Given the description of an element on the screen output the (x, y) to click on. 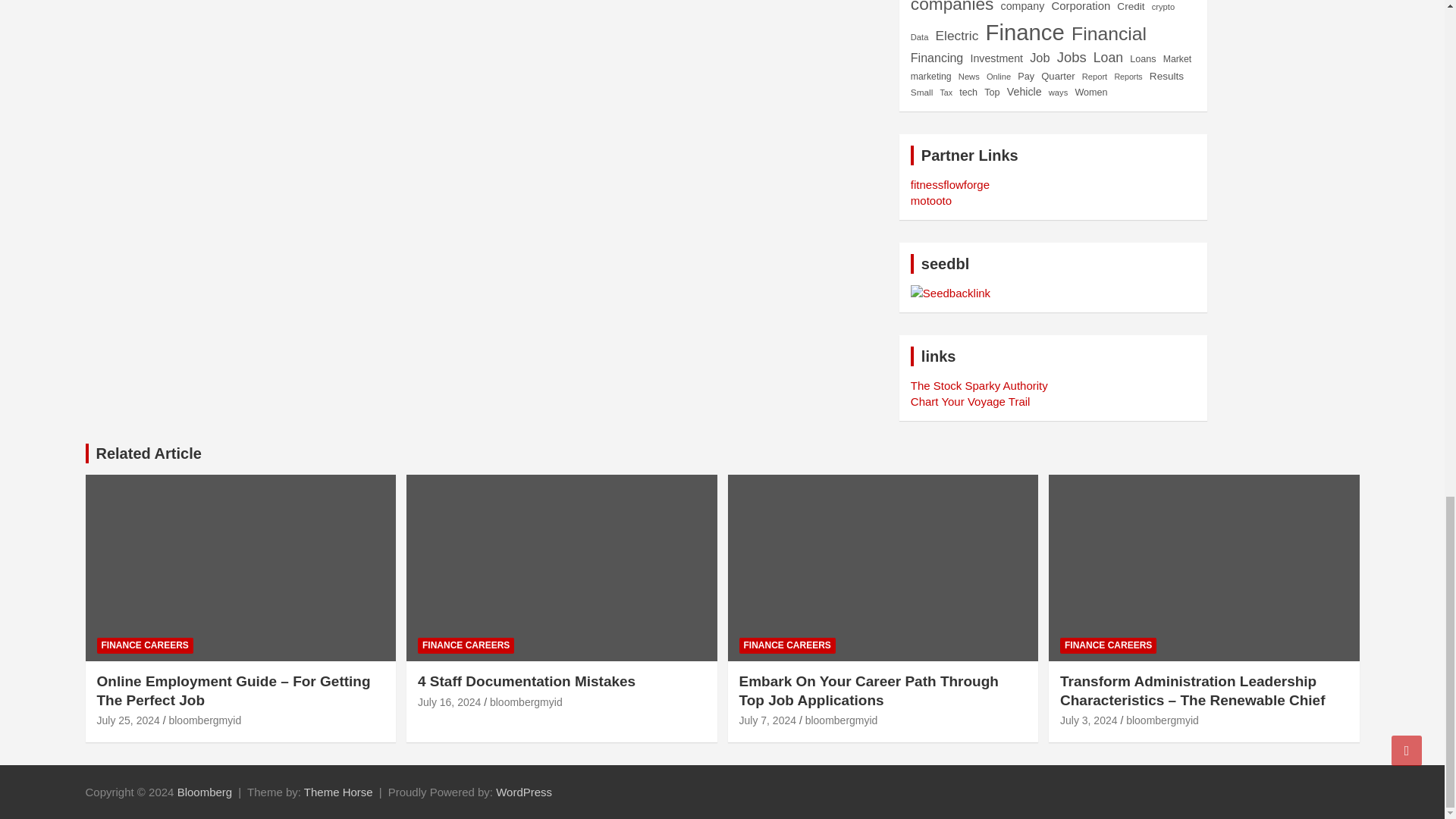
Embark On Your Career Path Through Top Job Applications (767, 720)
Seedbacklink (950, 293)
4 Staff Documentation Mistakes (448, 702)
Bloomberg (204, 791)
Theme Horse (338, 791)
WordPress (523, 791)
